Given the description of an element on the screen output the (x, y) to click on. 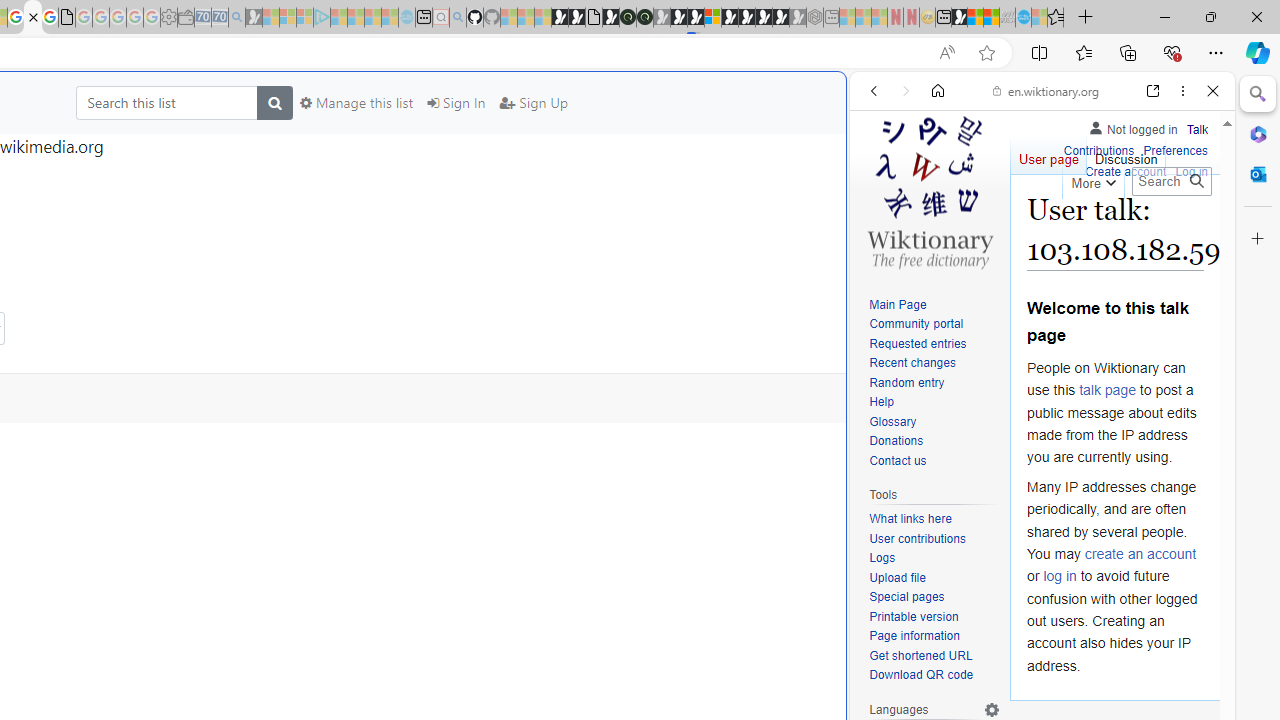
Future Focus Report 2024 (644, 17)
Contributions (1098, 151)
Log in (1191, 169)
Search Filter, VIDEOS (1006, 228)
SEARCH TOOLS (1093, 228)
Main Page (934, 305)
